Given the description of an element on the screen output the (x, y) to click on. 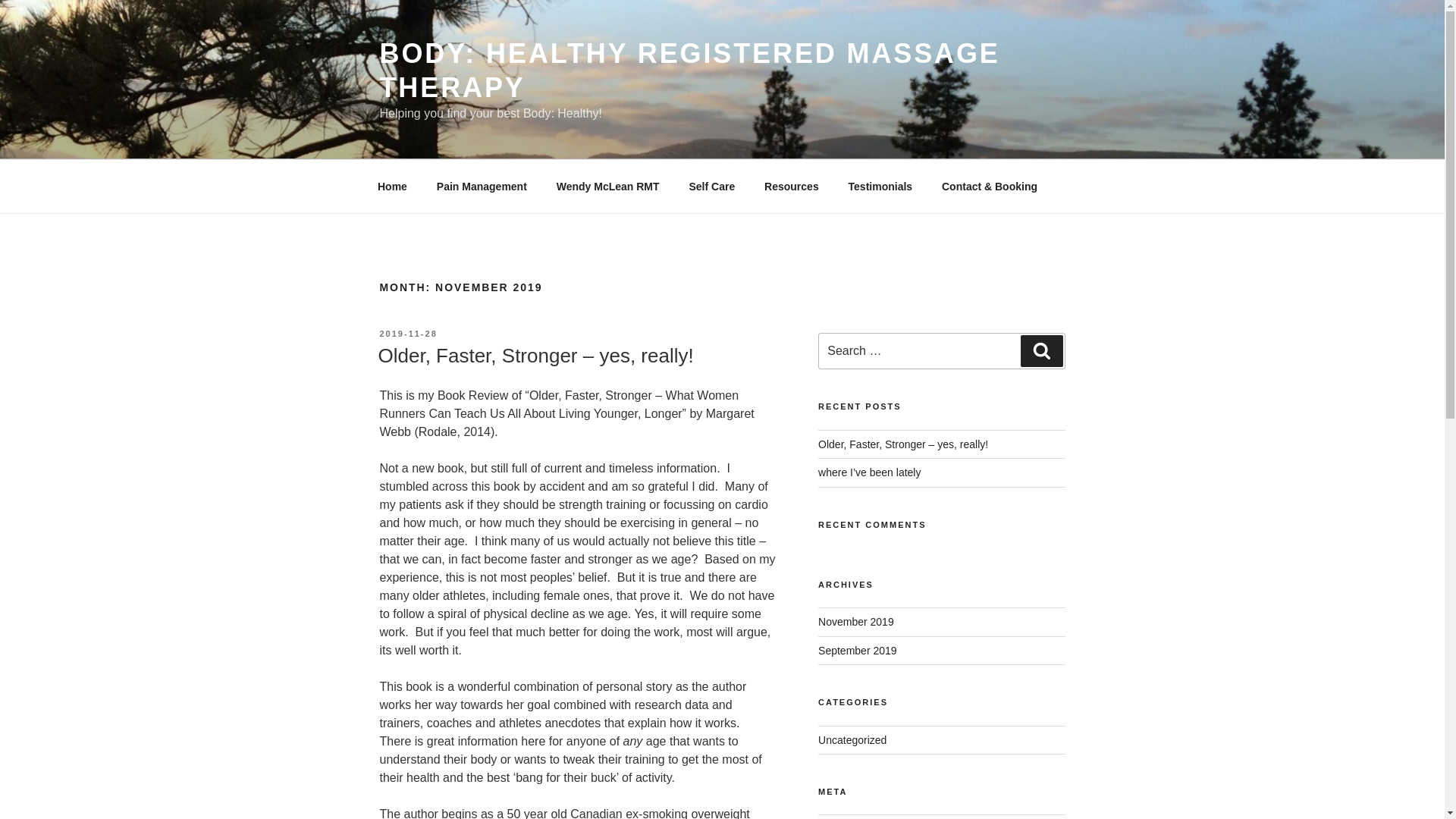
Self Care (711, 186)
November 2019 (855, 621)
September 2019 (857, 650)
Uncategorized (852, 739)
BODY: HEALTHY REGISTERED MASSAGE THERAPY (688, 70)
2019-11-28 (407, 333)
Wendy McLean RMT (607, 186)
Pain Management (481, 186)
Home (392, 186)
Search (1041, 350)
